Given the description of an element on the screen output the (x, y) to click on. 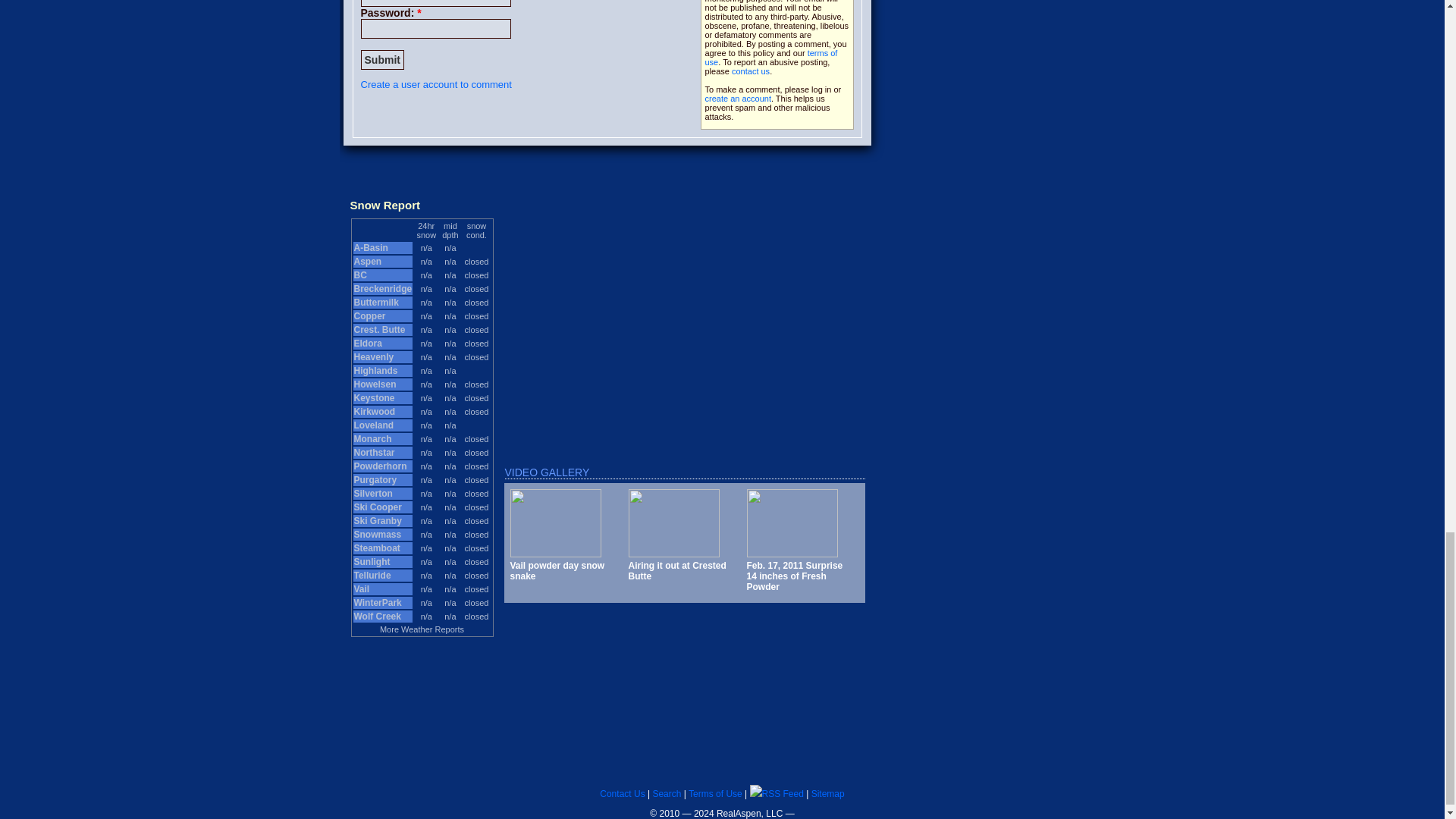
create an account (737, 98)
Submit (382, 59)
contact us (751, 71)
Submit (382, 59)
create account to comment (737, 98)
Create a user account to comment (436, 84)
Click here to join and comment (436, 84)
terms of use (771, 57)
